Given the description of an element on the screen output the (x, y) to click on. 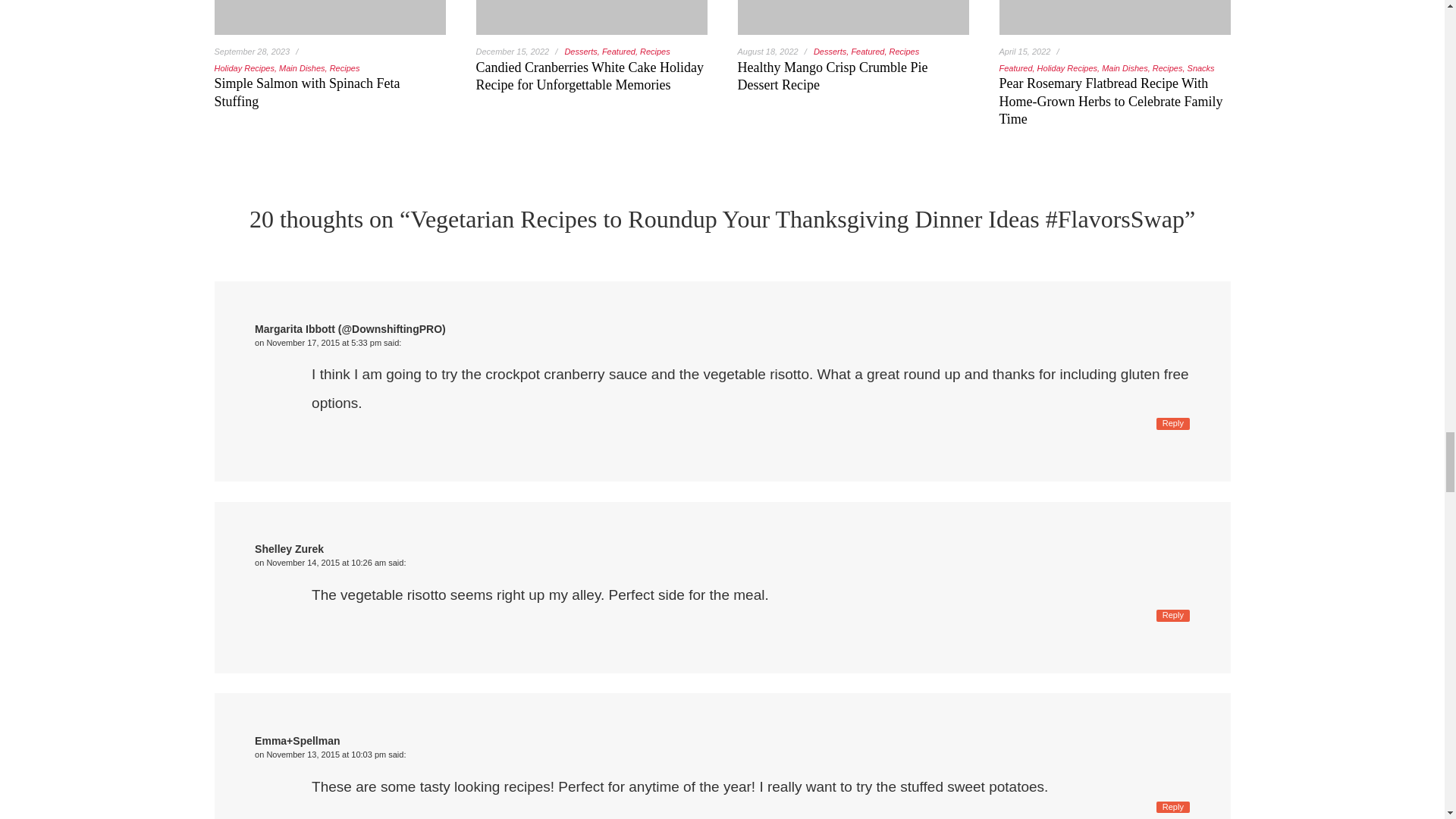
View all articles from: Recipes (1167, 67)
View all articles from: Recipes (903, 51)
View all articles from: Featured (618, 51)
View all articles from: Desserts (580, 51)
View all articles from: Snacks (1201, 67)
View all articles from: Featured (1015, 67)
View all articles from: Recipes (654, 51)
View all articles from: Main Dishes (1125, 67)
View all articles from: Holiday Recipes (243, 67)
View all articles from: Main Dishes (301, 67)
View all articles from: Desserts (829, 51)
View all articles from: Holiday Recipes (1066, 67)
View all articles from: Recipes (344, 67)
View all articles from: Featured (866, 51)
